Given the description of an element on the screen output the (x, y) to click on. 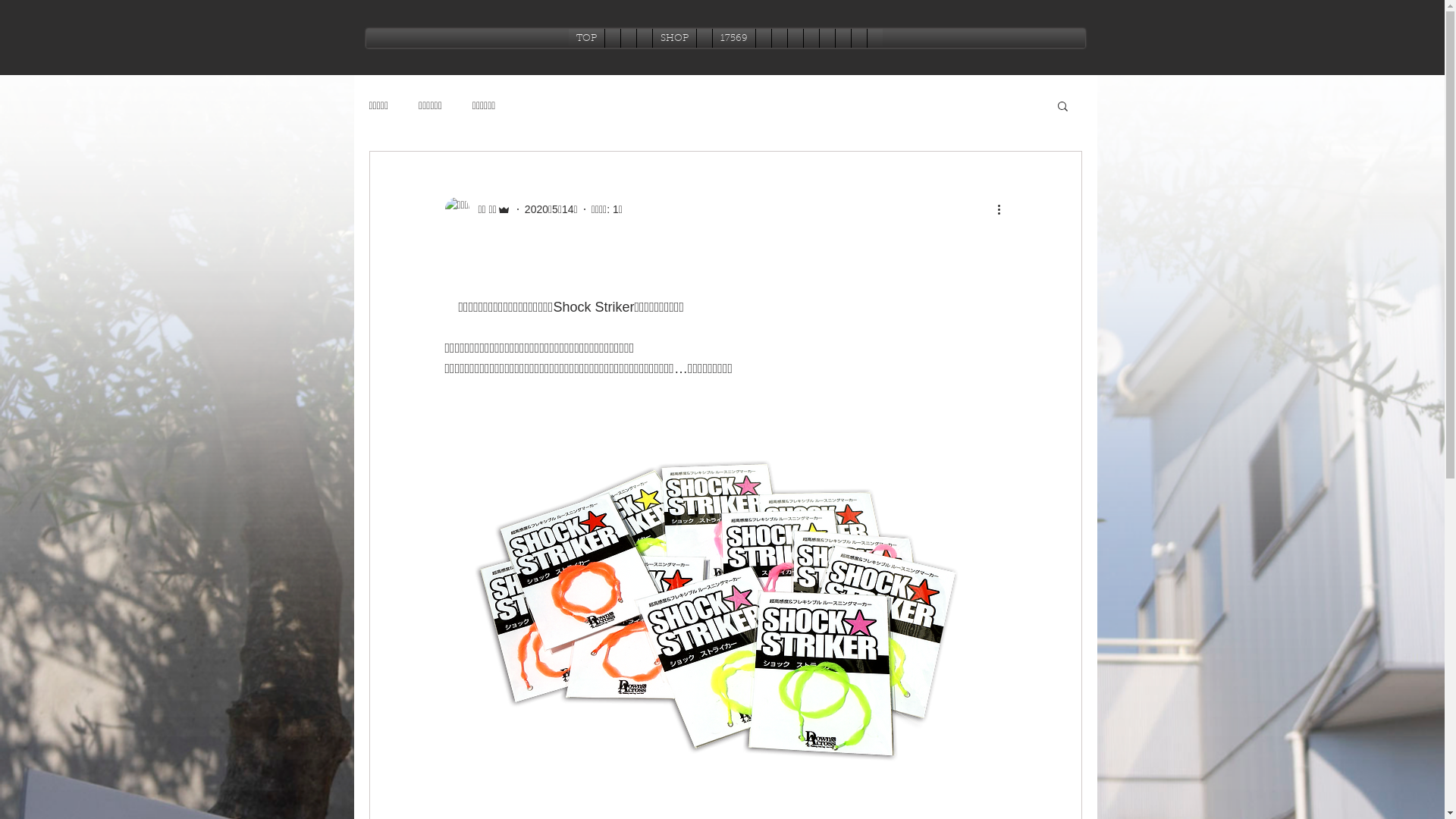
TOP Element type: text (586, 37)
SHOP Element type: text (673, 37)
